Given the description of an element on the screen output the (x, y) to click on. 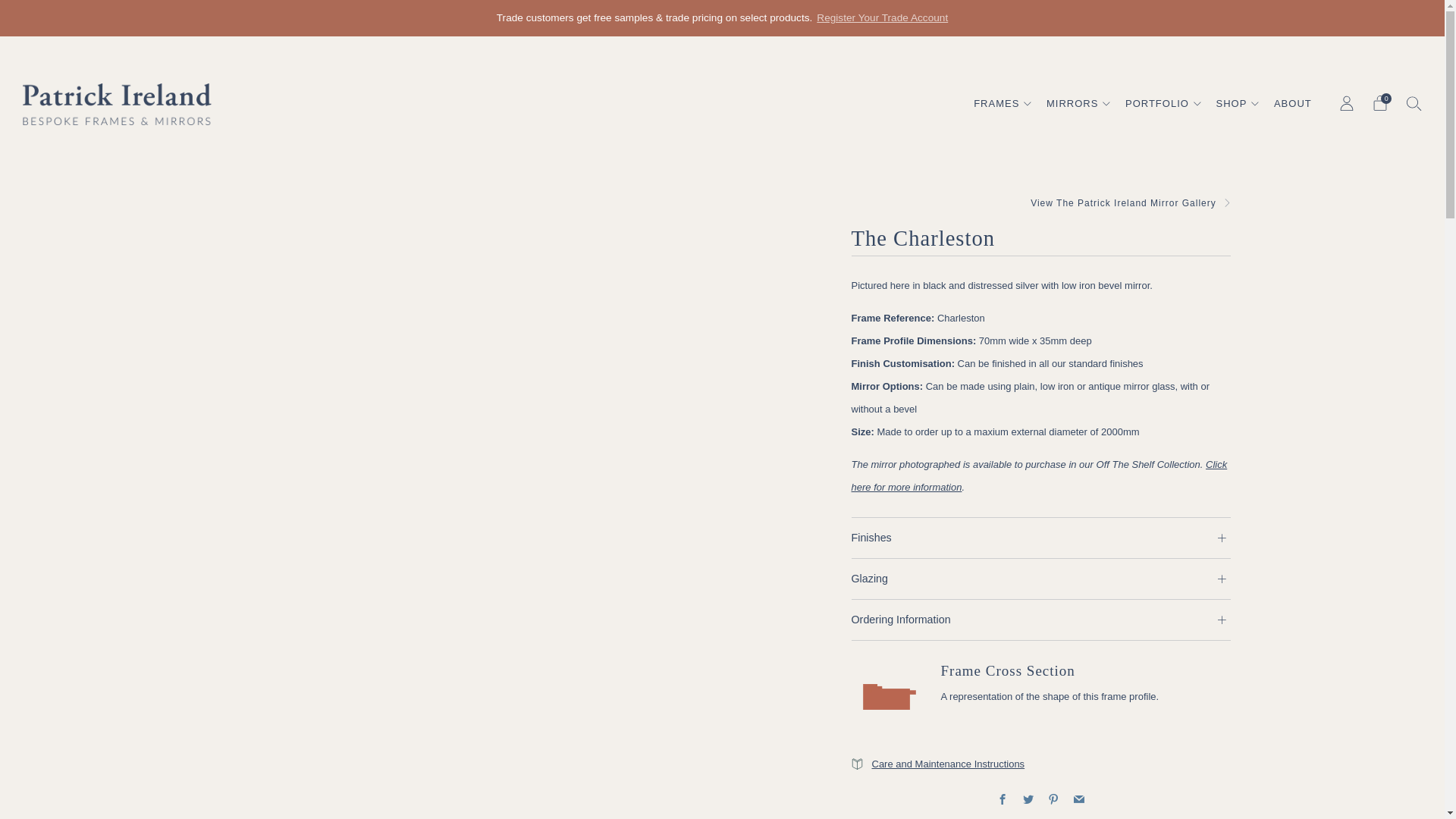
FRAMES (1003, 102)
MIRRORS (1078, 102)
Register Your Trade Account (881, 17)
